Given the description of an element on the screen output the (x, y) to click on. 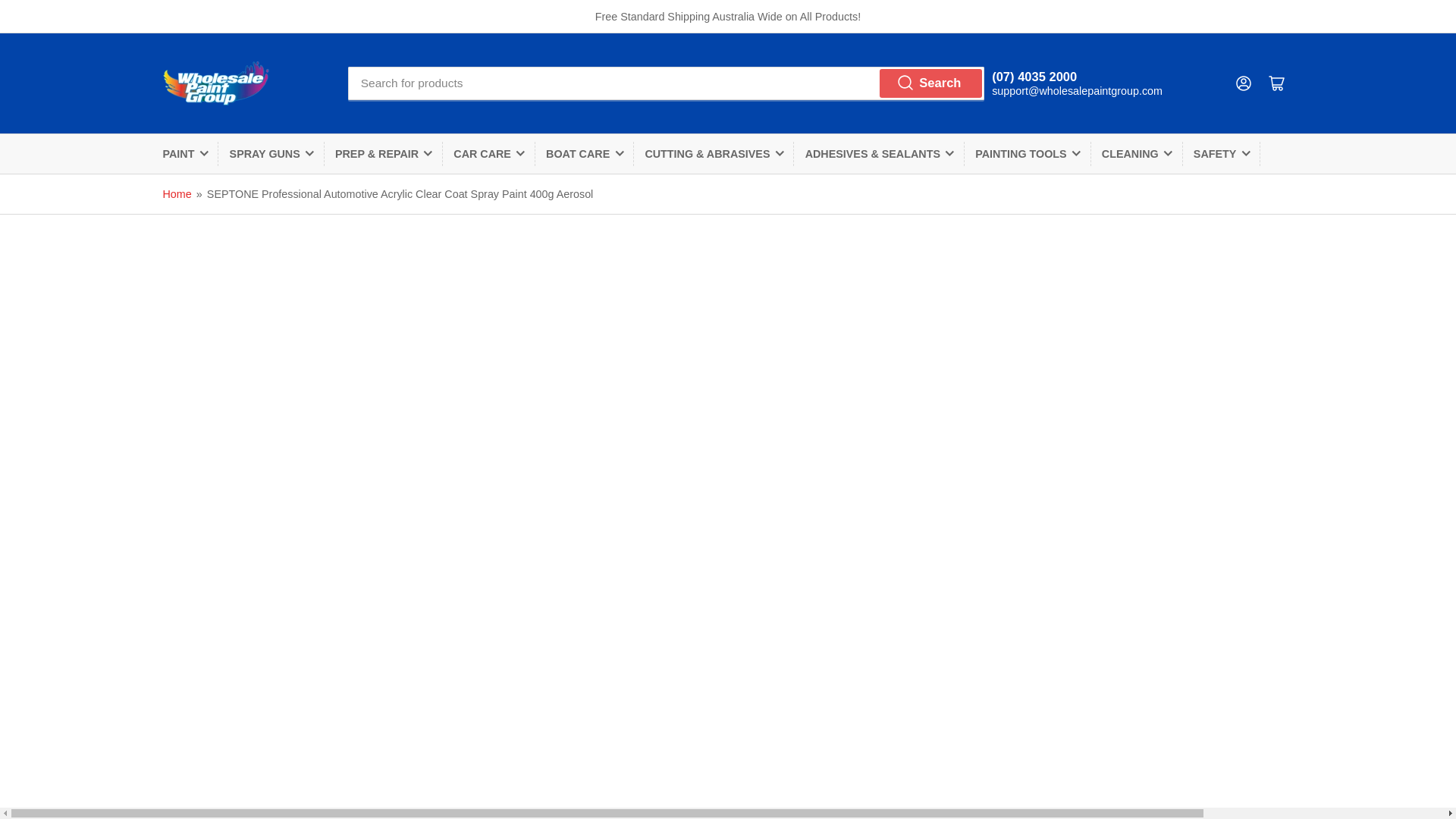
Search (930, 83)
Log in (1243, 82)
Open mini cart (1277, 82)
